Given the description of an element on the screen output the (x, y) to click on. 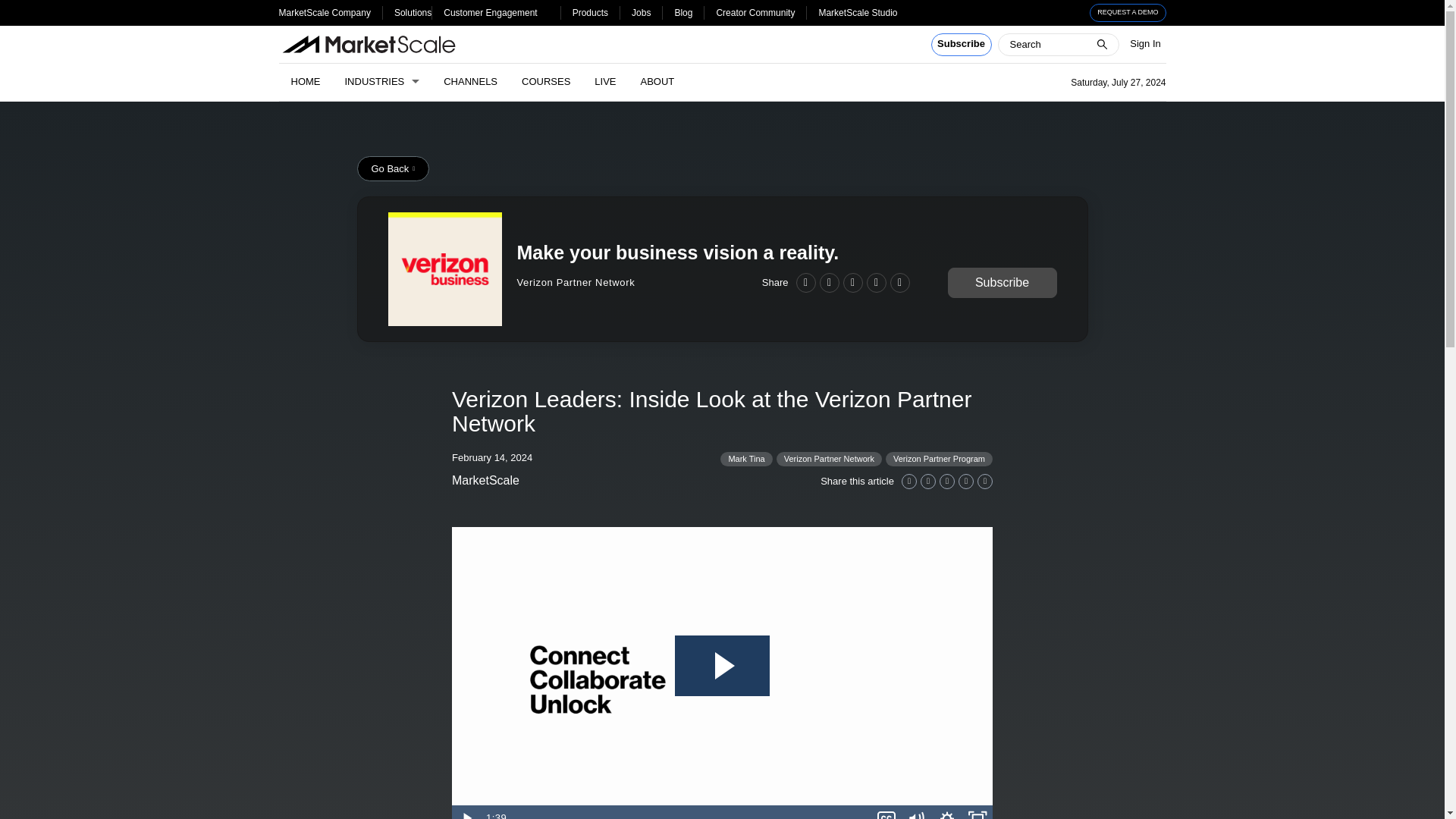
Share on Linkedin (909, 481)
Share on Email (966, 481)
Copy Link (984, 481)
Solutions (412, 12)
Search (21, 7)
Play Video (466, 812)
Customer Engagement (490, 12)
Share on Facebook (853, 282)
Share on X (828, 282)
Show captions menu (885, 812)
Copy Link (899, 282)
Jobs (640, 12)
Share on Linkedin (805, 282)
Creator Community (755, 12)
Share on Email (875, 282)
